Given the description of an element on the screen output the (x, y) to click on. 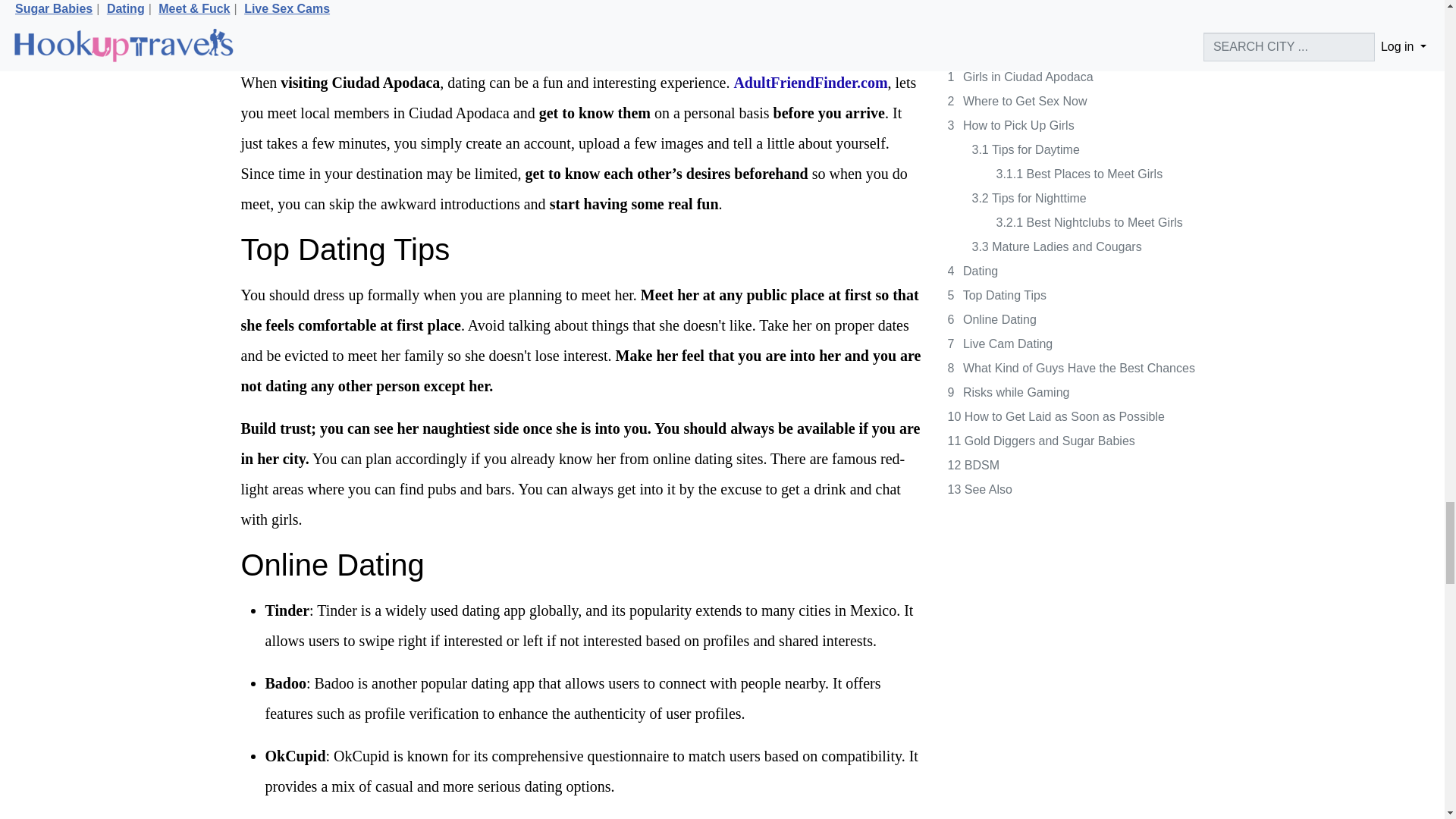
AdultFriendFinder.com (809, 82)
